Given the description of an element on the screen output the (x, y) to click on. 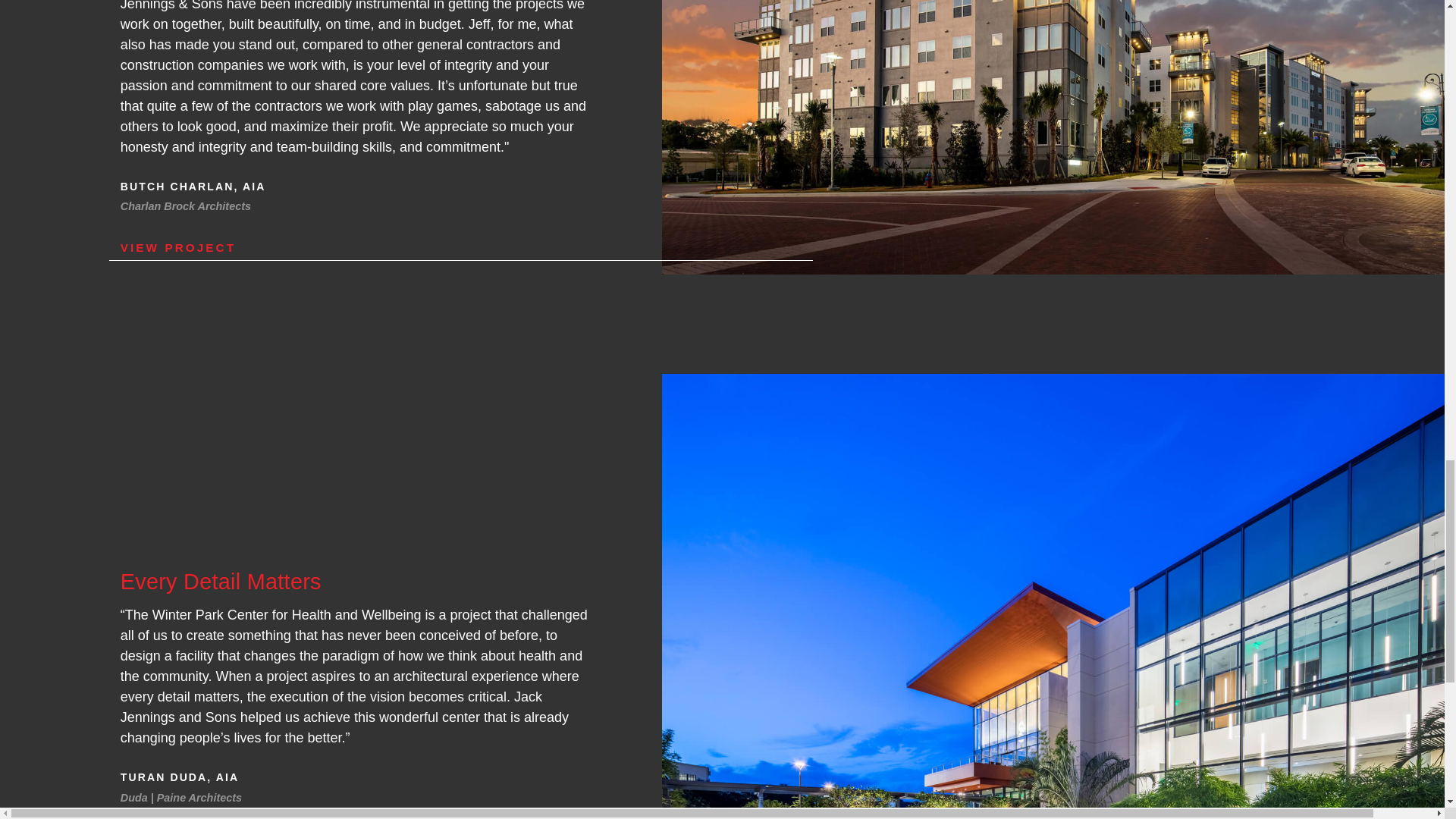
VIEW PROJECT (461, 248)
